Given the description of an element on the screen output the (x, y) to click on. 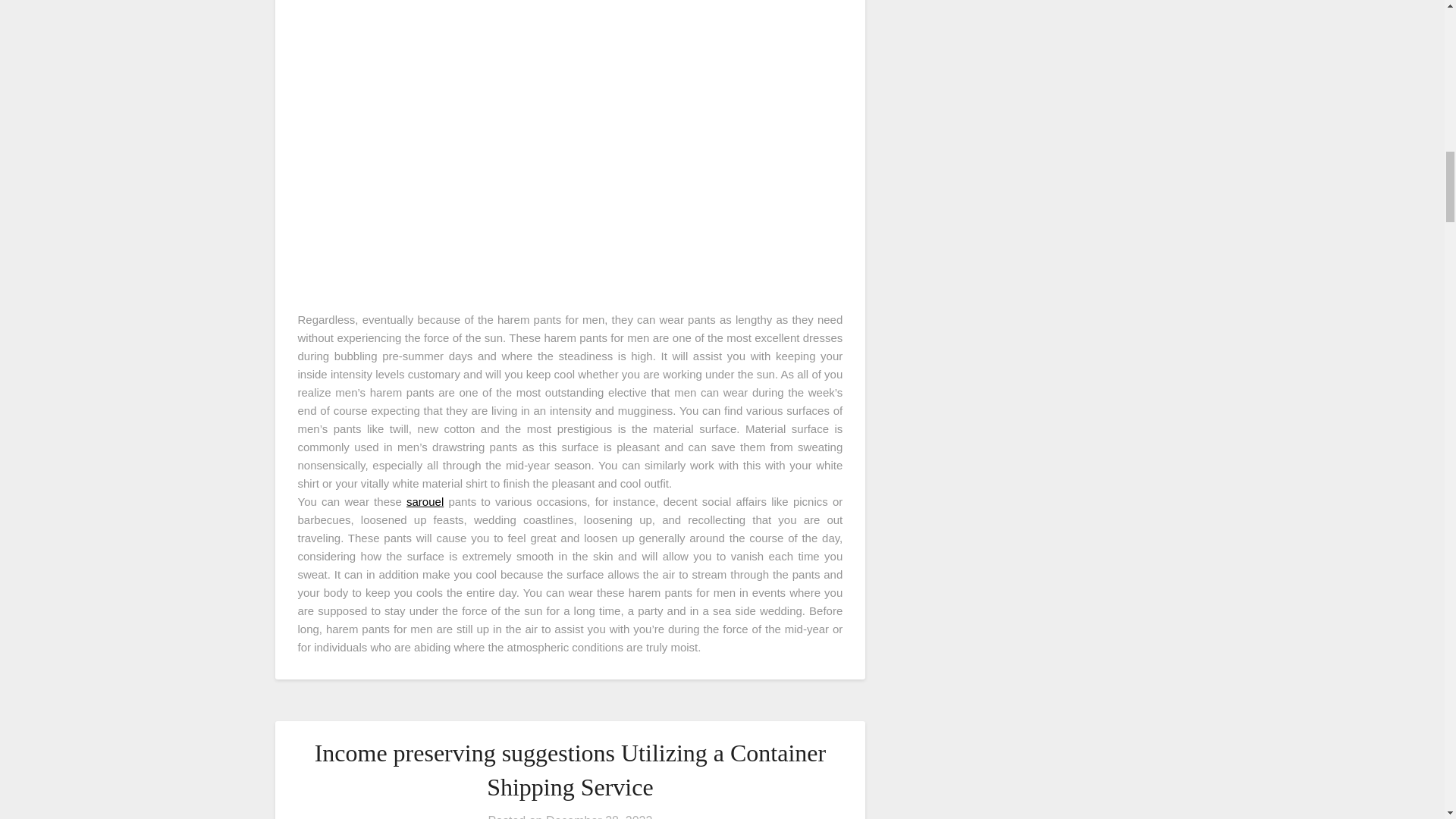
sarouel (425, 501)
December 28, 2022 (599, 816)
